Given the description of an element on the screen output the (x, y) to click on. 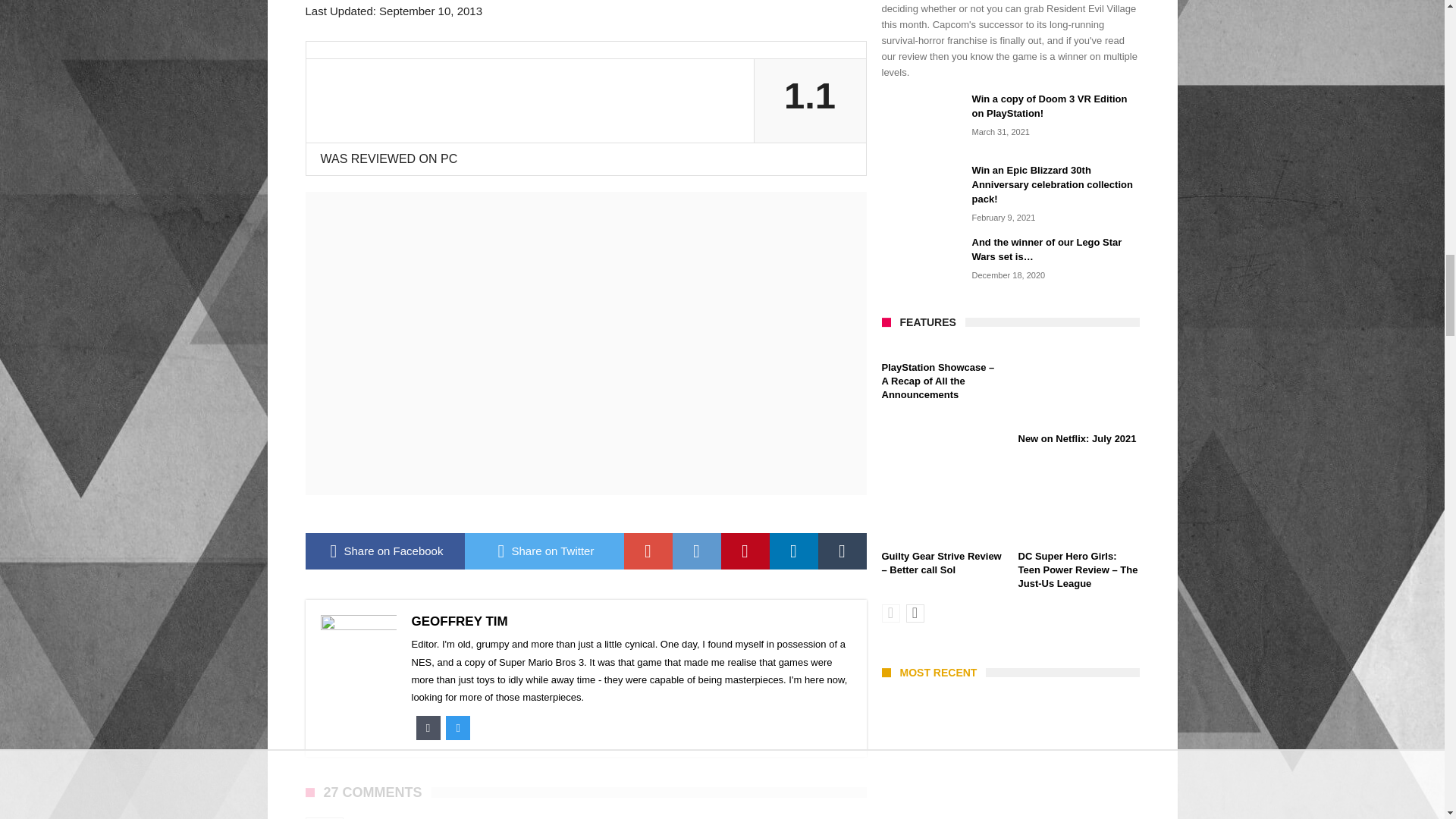
Share on Twitter (543, 551)
Share on Facebook (384, 551)
